Given the description of an element on the screen output the (x, y) to click on. 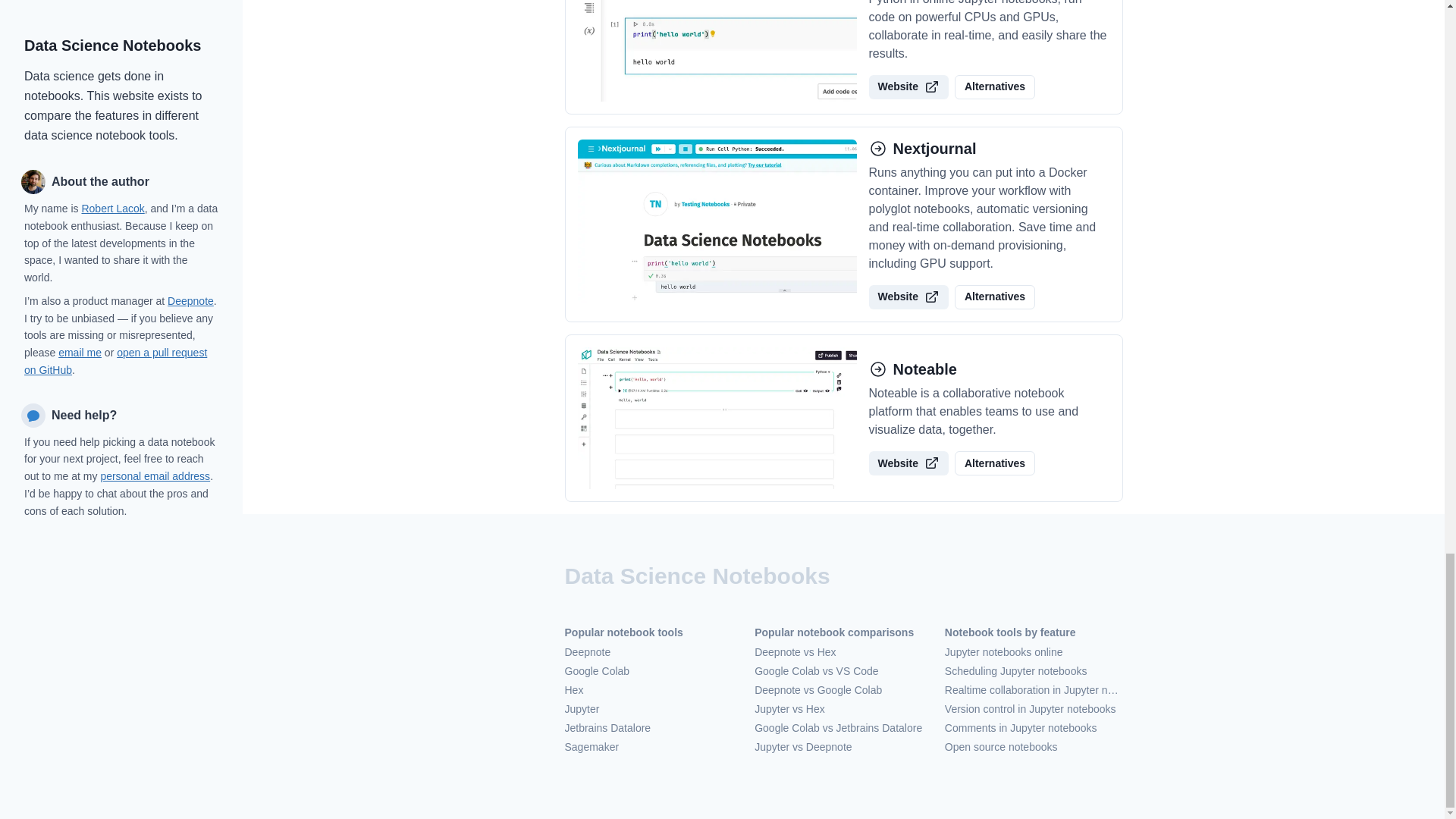
Alternatives (995, 86)
Hex (653, 690)
Deepnote (653, 652)
Google Colab (653, 671)
Alternatives (995, 463)
Jetbrains Datalore (653, 728)
Noteable (989, 369)
Website (909, 463)
Alternatives (995, 297)
Jupyter (653, 709)
Website (909, 297)
Nextjournal (989, 148)
Website (909, 86)
